Given the description of an element on the screen output the (x, y) to click on. 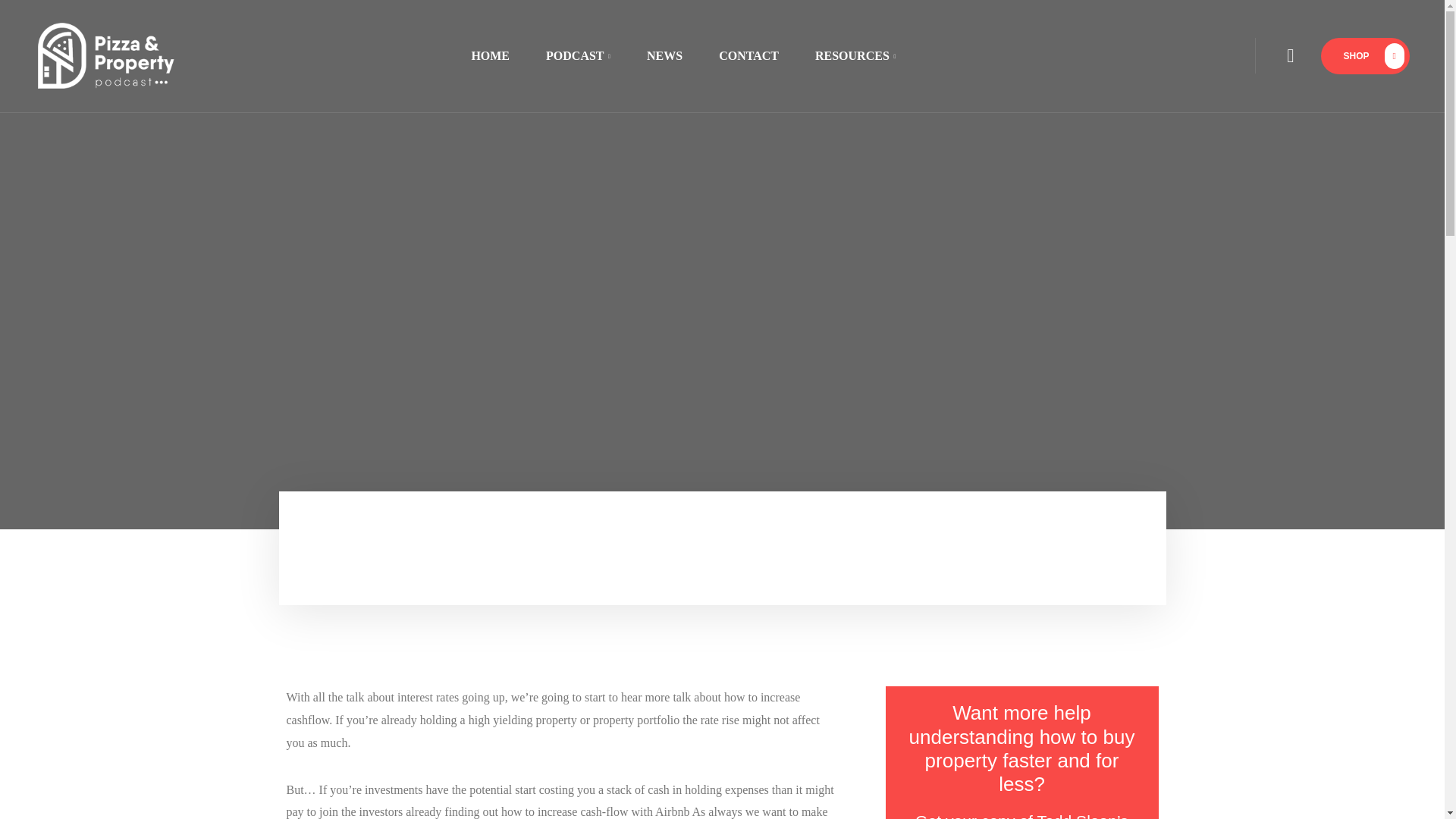
PODCAST (578, 55)
SHOP (1364, 55)
RESOURCES (846, 55)
CONTACT (747, 55)
HOME (489, 55)
NEWS (664, 55)
